Given the description of an element on the screen output the (x, y) to click on. 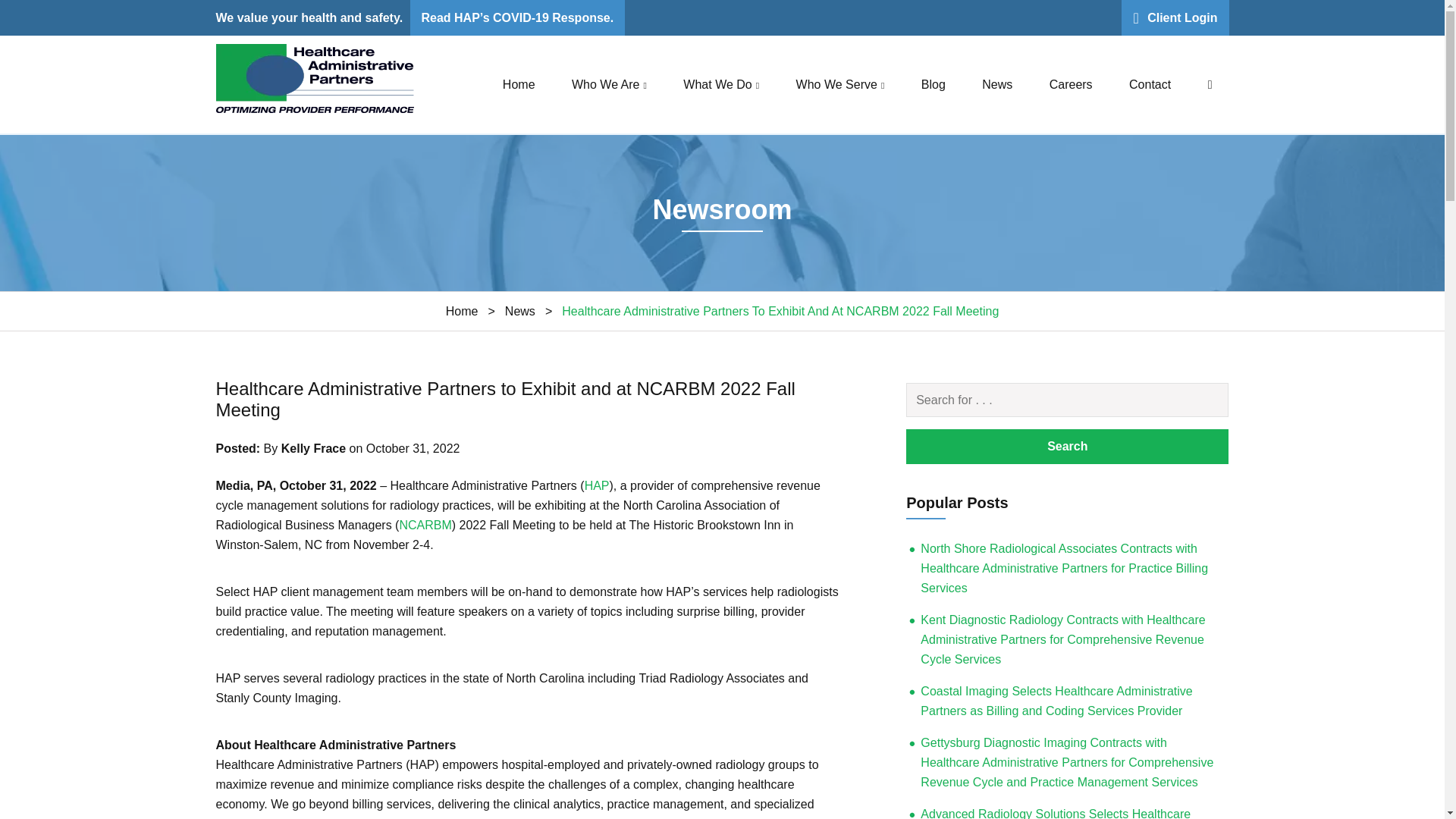
Search (1066, 446)
Who We Serve (840, 84)
Search (1066, 446)
Search (1066, 399)
Client Login (1174, 18)
